Given the description of an element on the screen output the (x, y) to click on. 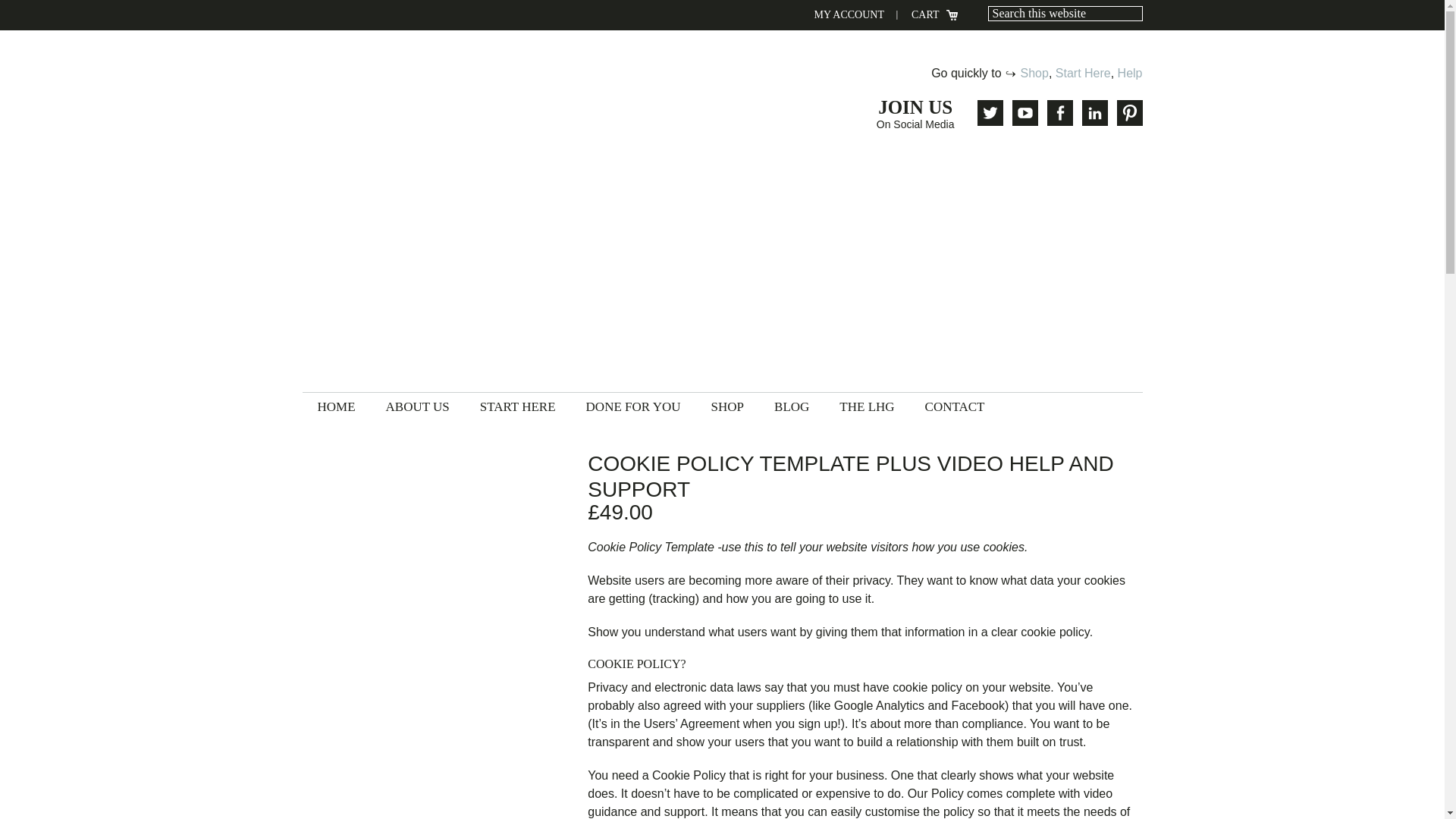
CONTACT (955, 406)
Pinterest (1128, 112)
MY ACCOUNT (849, 14)
SHOP (726, 406)
THE LHG (866, 406)
Facebook (1058, 112)
Youtube (1023, 112)
BLOG (791, 406)
Twitter (989, 112)
Help (1130, 72)
Linkedin (1093, 112)
Start Here (1082, 72)
START HERE (517, 406)
Twitter (989, 112)
